Given the description of an element on the screen output the (x, y) to click on. 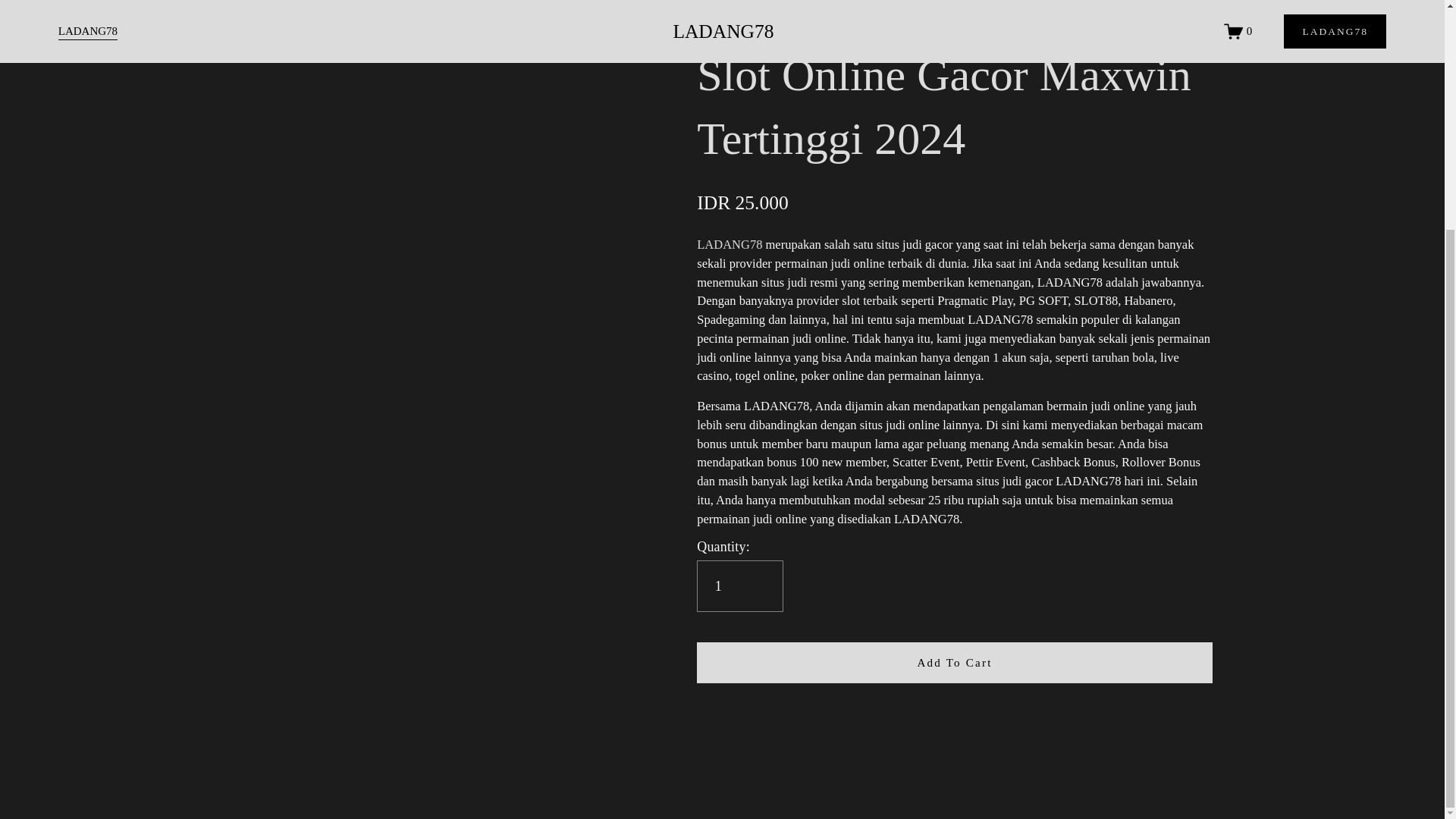
LADANG78 (729, 244)
1 (740, 585)
